Given the description of an element on the screen output the (x, y) to click on. 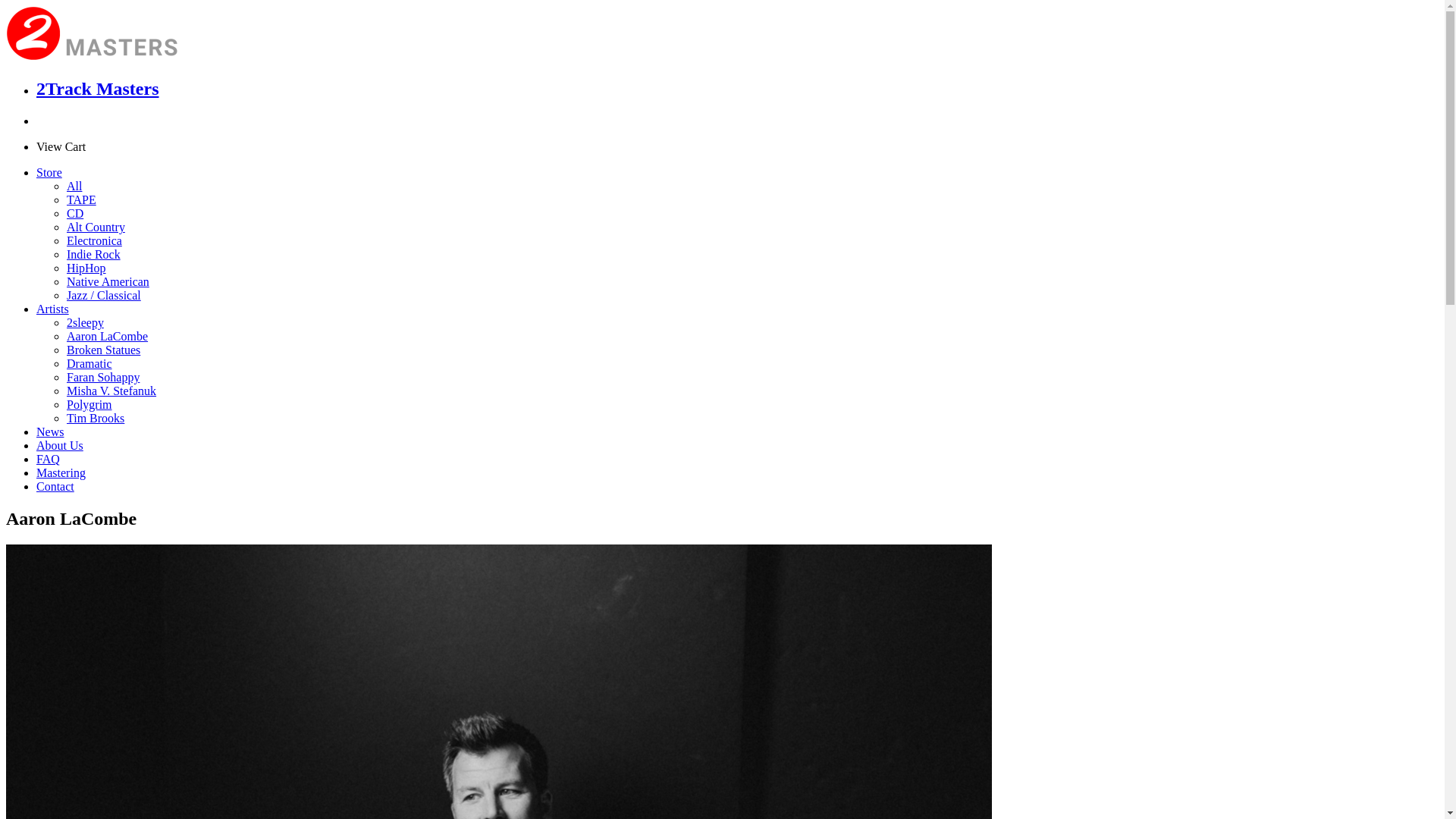
HipHop Element type: text (86, 267)
2Track Masters Element type: text (97, 88)
FAQ Element type: text (47, 458)
Electronica Element type: text (94, 240)
Jazz / Classical Element type: text (103, 294)
Store Element type: text (49, 172)
Faran Sohappy Element type: text (102, 376)
Broken Statues Element type: text (103, 349)
Aaron LaCombe Element type: text (106, 335)
CD Element type: text (74, 213)
Alt Country Element type: text (95, 226)
Native American Element type: text (107, 281)
All Element type: text (73, 185)
Indie Rock Element type: text (93, 253)
About Us Element type: text (59, 445)
Dramatic Element type: text (89, 363)
Contact Element type: text (55, 486)
TAPE Element type: text (81, 199)
2sleepy Element type: text (84, 322)
Artists Element type: text (52, 308)
Mastering Element type: text (60, 472)
Polygrim Element type: text (89, 404)
Misha V. Stefanuk Element type: text (111, 390)
Tim Brooks Element type: text (95, 417)
View Cart Element type: text (60, 146)
News Element type: text (49, 431)
